Given the description of an element on the screen output the (x, y) to click on. 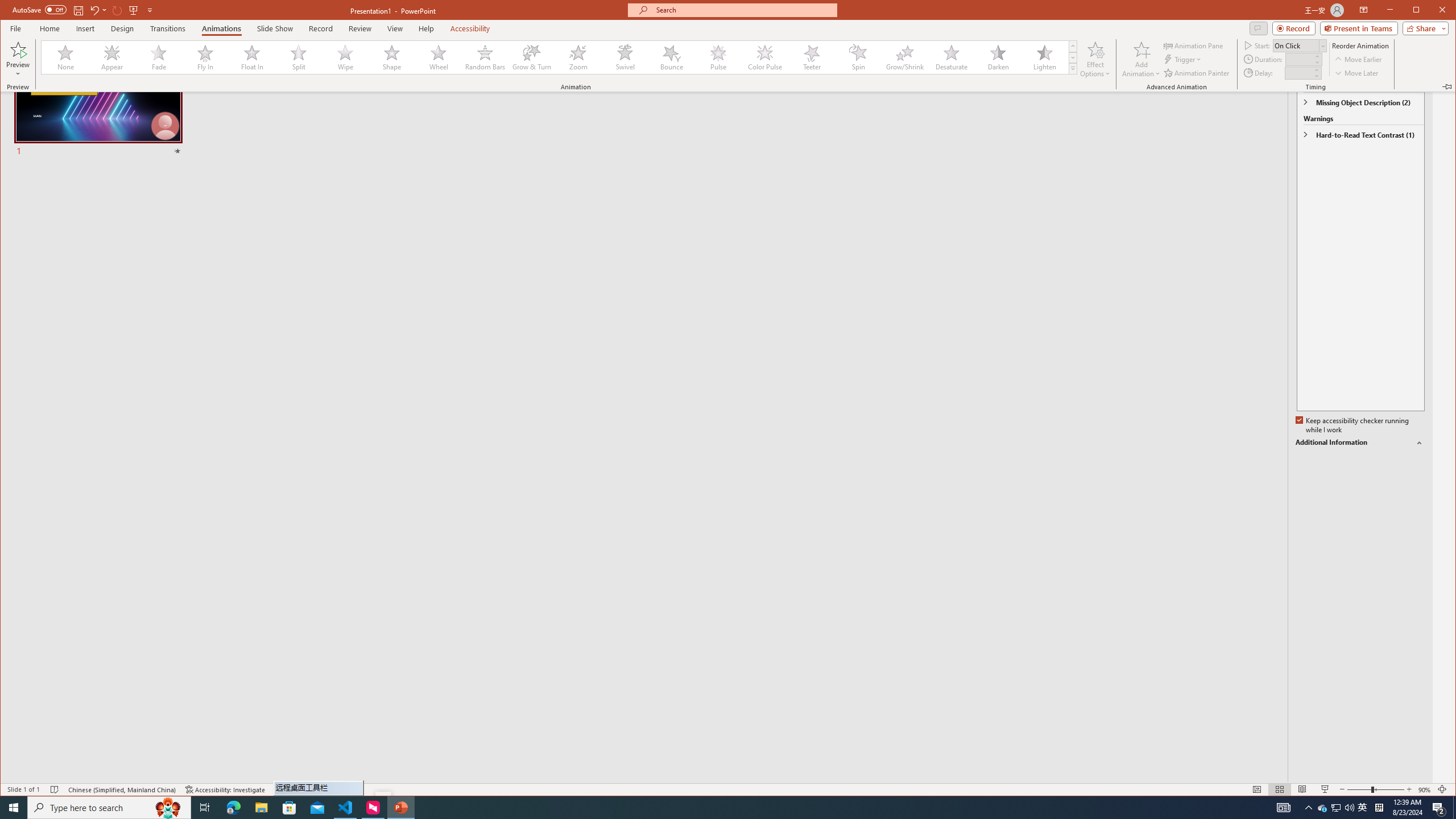
Quick Access Toolbar (83, 9)
Zoom 90% (1424, 789)
Maximize (1432, 11)
Microsoft Edge (233, 807)
Insert (85, 28)
Close (1444, 11)
Accessibility Checker Accessibility: Investigate (225, 789)
Redo (117, 9)
Present in Teams (1358, 28)
Save (77, 9)
Minimize (1419, 11)
Q2790: 100% (1349, 807)
Search highlights icon opens search home window (167, 807)
PowerPoint - 1 running window (400, 807)
